Given the description of an element on the screen output the (x, y) to click on. 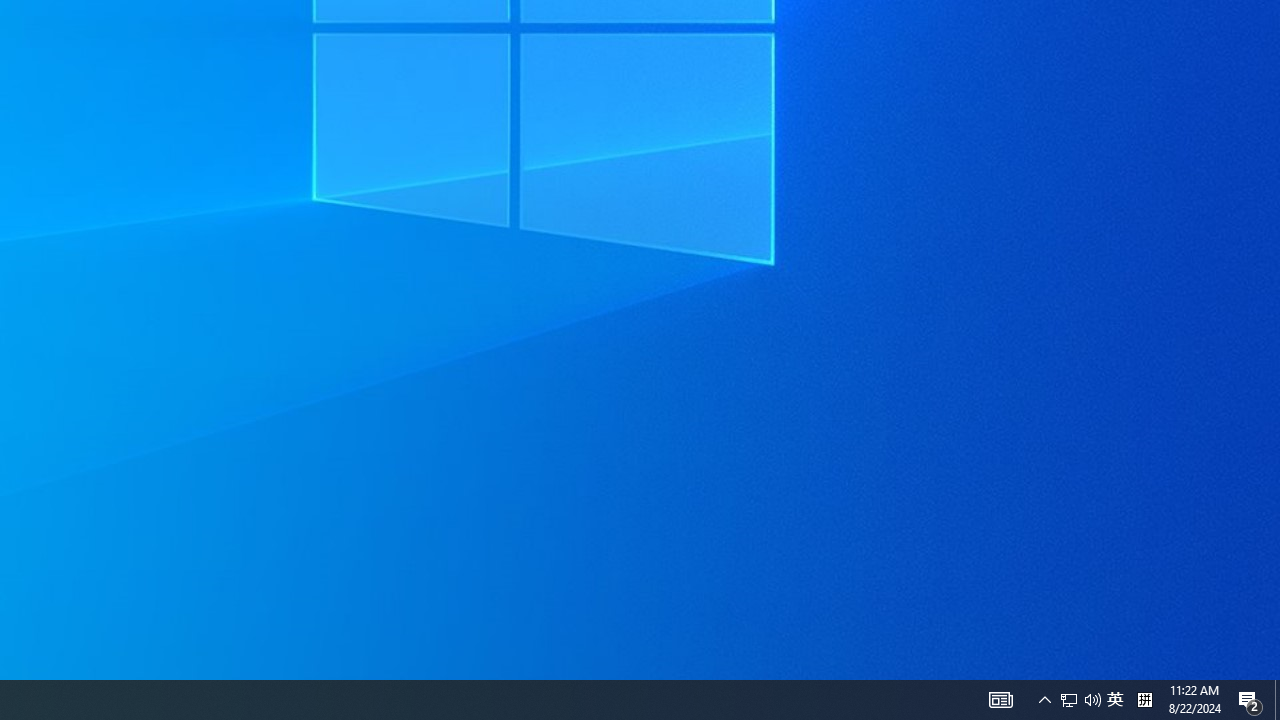
Notification Chevron (1044, 699)
User Promoted Notification Area (1080, 699)
AutomationID: 4105 (1069, 699)
Show desktop (1000, 699)
Q2790: 100% (1277, 699)
Action Center, 2 new notifications (1092, 699)
Tray Input Indicator - Chinese (Simplified, China) (1250, 699)
